Given the description of an element on the screen output the (x, y) to click on. 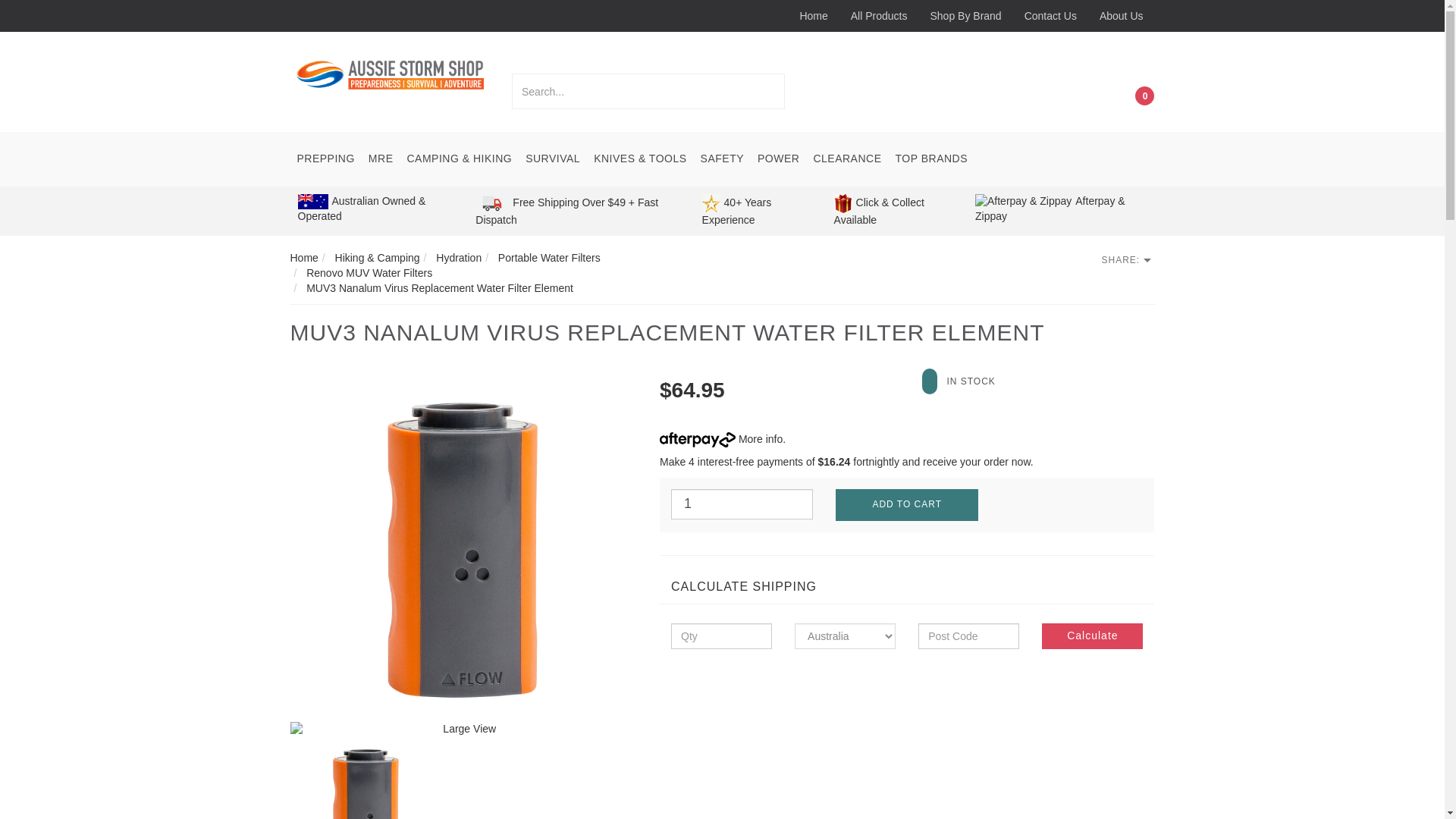
Large View (463, 548)
Calculate (1092, 636)
Large View (463, 729)
1 (741, 503)
Add to Cart (905, 504)
Aussie Storm Shop (389, 73)
